Given the description of an element on the screen output the (x, y) to click on. 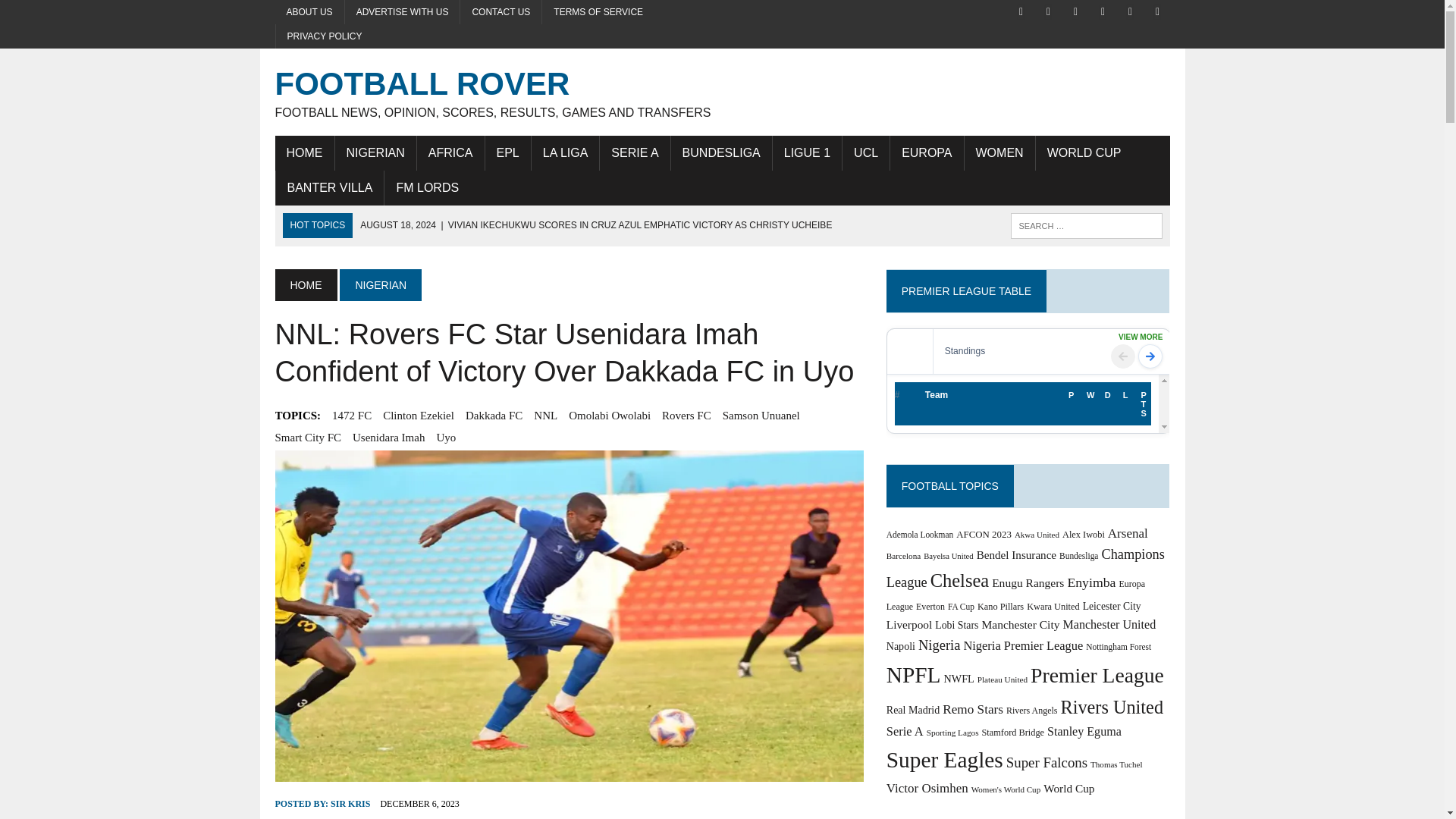
AFRICA (450, 152)
HOME (305, 285)
BUNDESLIGA (721, 152)
Rovers FC (686, 415)
BANTER VILLA (330, 187)
Football Rover (722, 91)
EUROPA (925, 152)
EPL (507, 152)
